Given the description of an element on the screen output the (x, y) to click on. 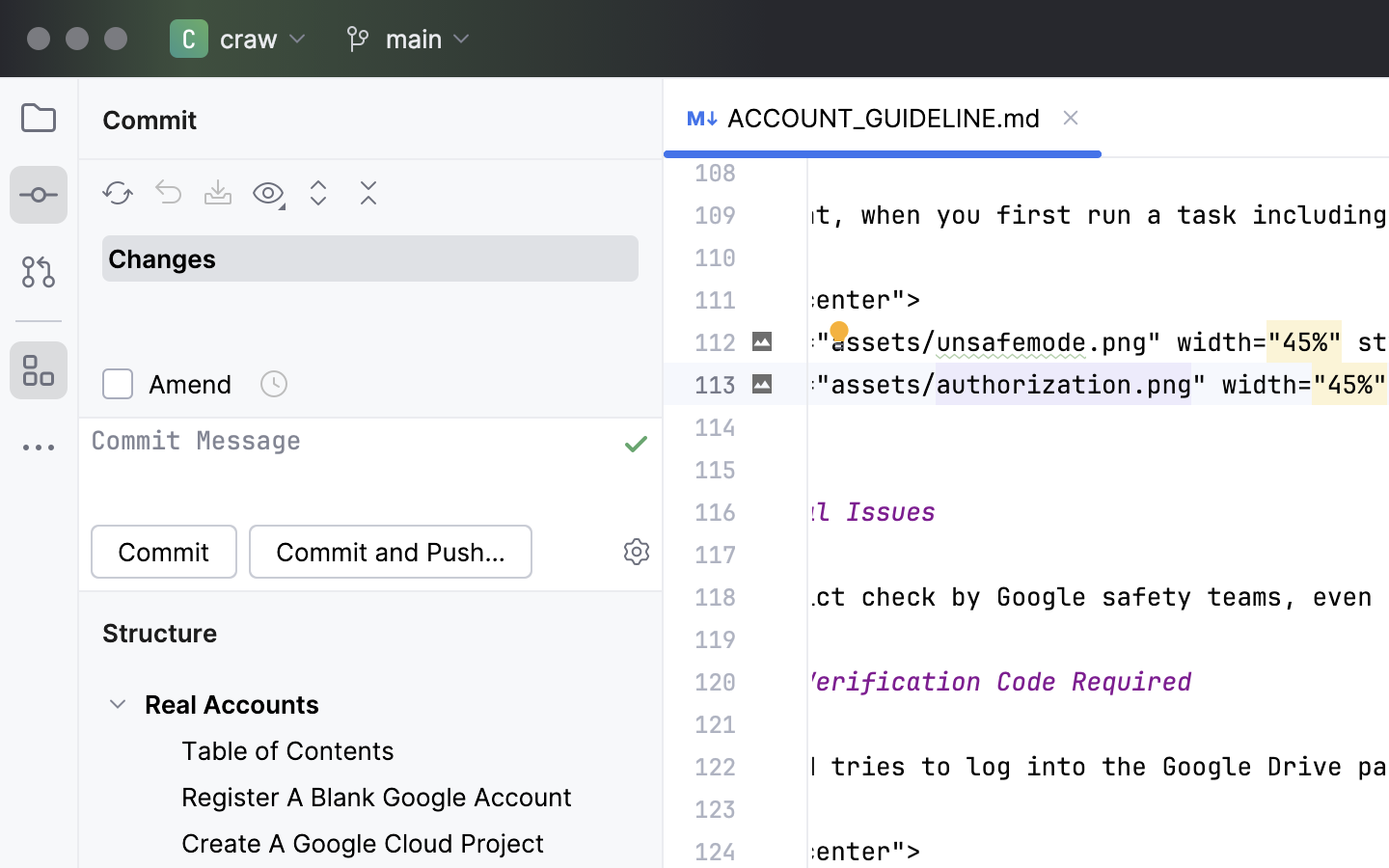
Commit Element type: AXStaticText (153, 119)
